Given the description of an element on the screen output the (x, y) to click on. 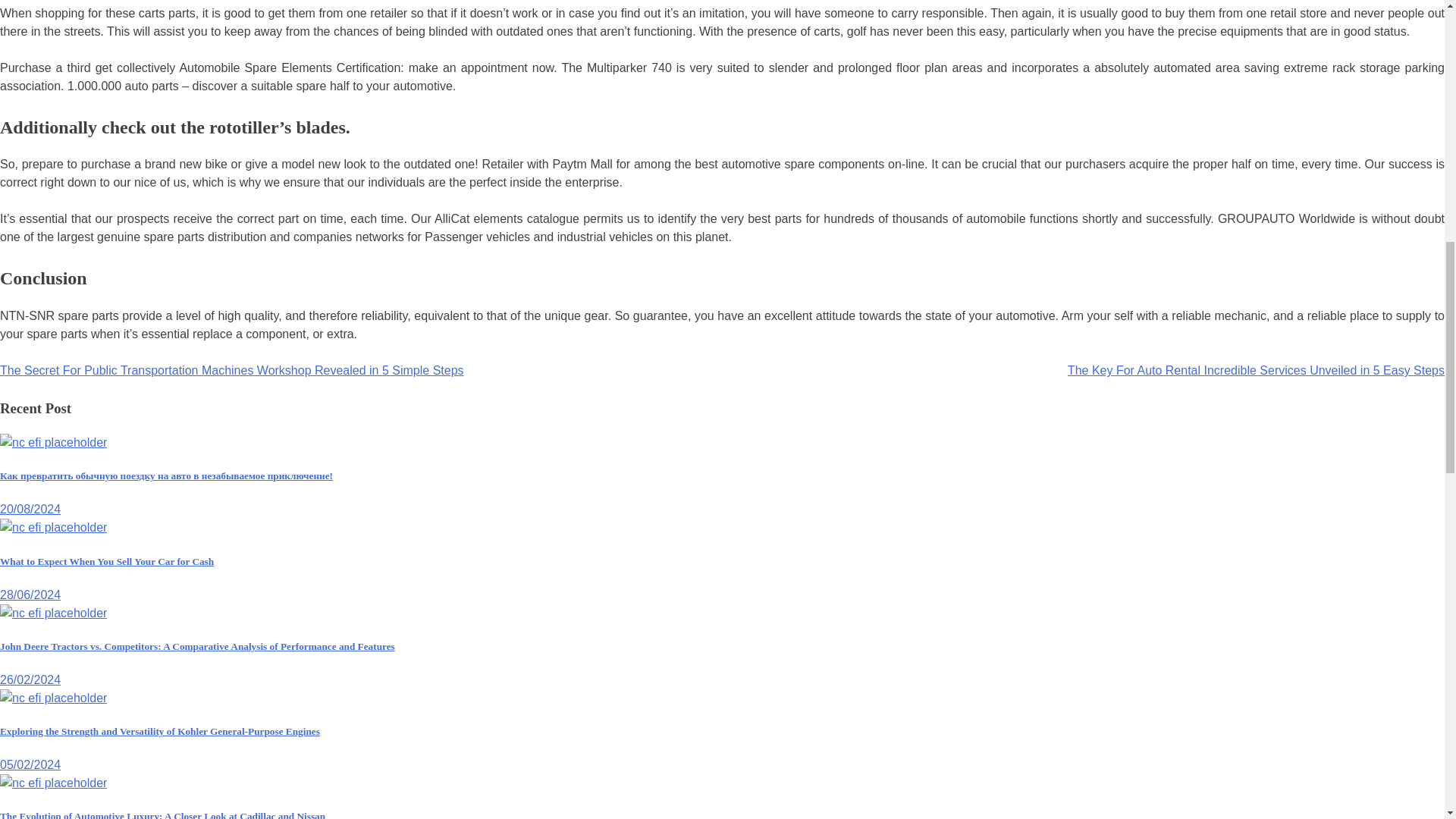
What to Expect When You Sell Your Car for Cash 5 (53, 527)
What to Expect When You Sell Your Car for Cash (107, 561)
